Given the description of an element on the screen output the (x, y) to click on. 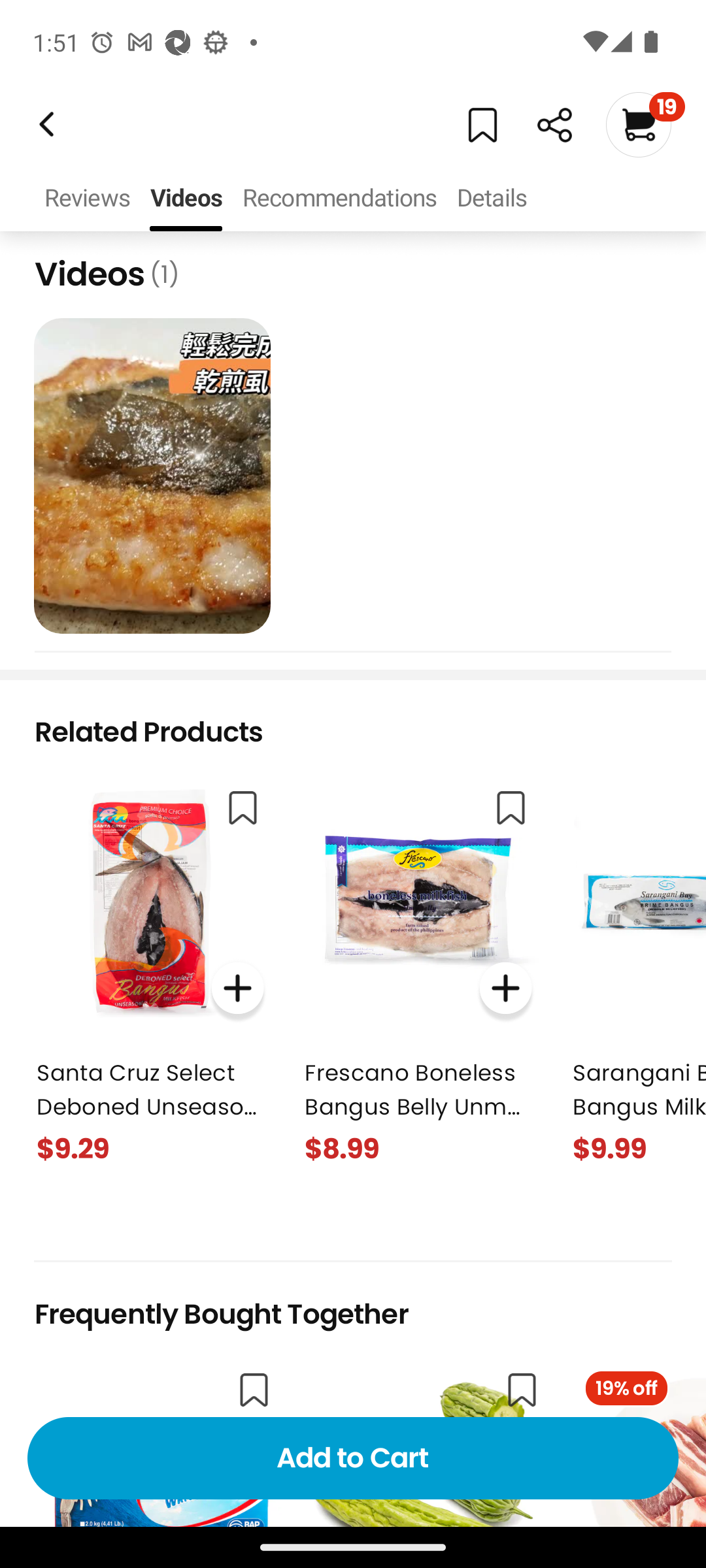
19 (644, 124)
Weee! (45, 124)
Weee! (554, 125)
Reviews (86, 199)
Videos (185, 199)
Recommendations (339, 199)
Details (491, 199)
Add to Cart (352, 1458)
